Given the description of an element on the screen output the (x, y) to click on. 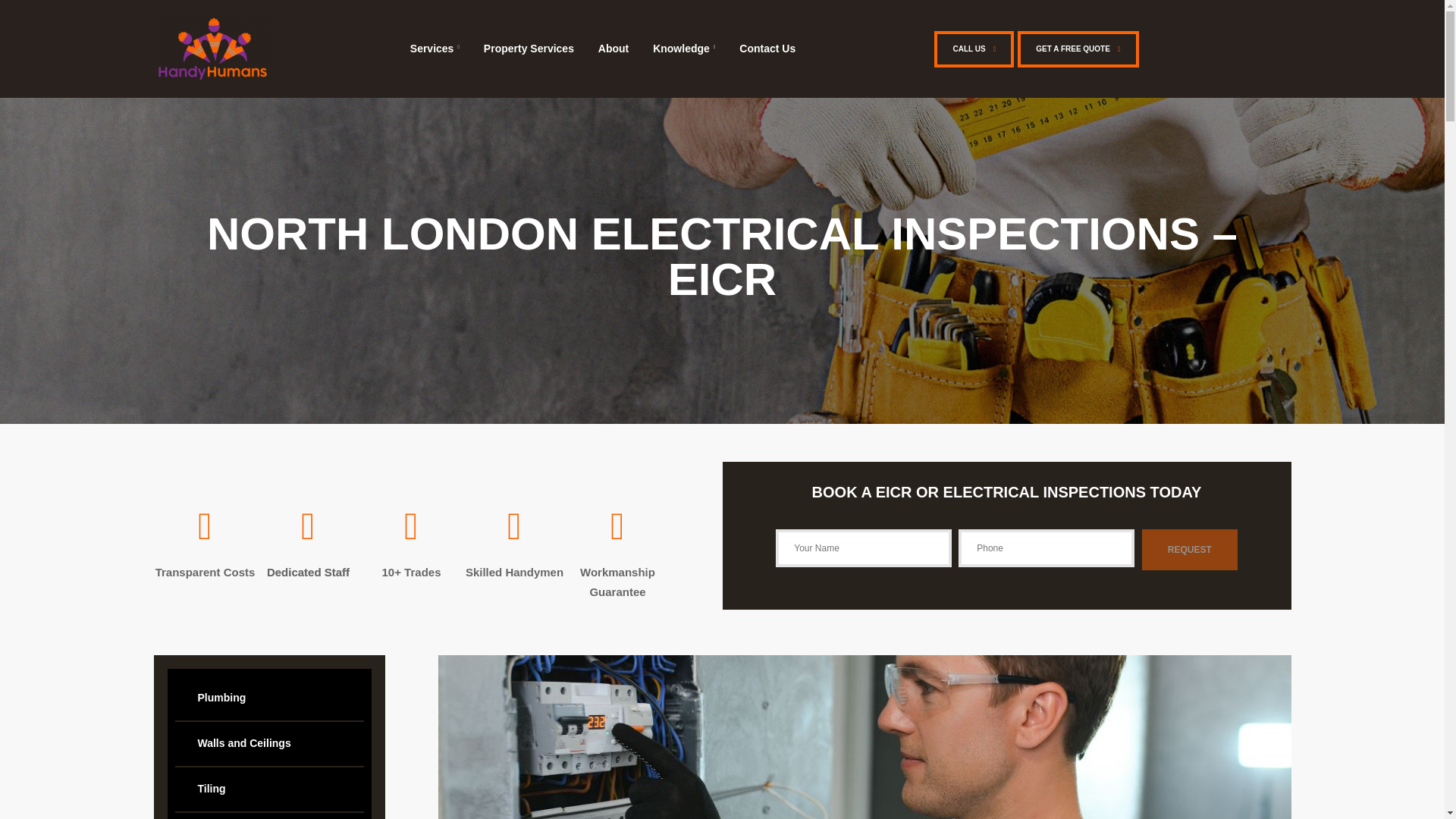
Property Services (529, 48)
Tiling (268, 789)
Contact Us (767, 48)
CALL US (973, 49)
GET A FREE QUOTE (1077, 49)
Rubbish Removal (268, 816)
Knowledge (683, 48)
Plumbing (268, 698)
Walls and Ceilings (268, 743)
Request (1189, 549)
